Given the description of an element on the screen output the (x, y) to click on. 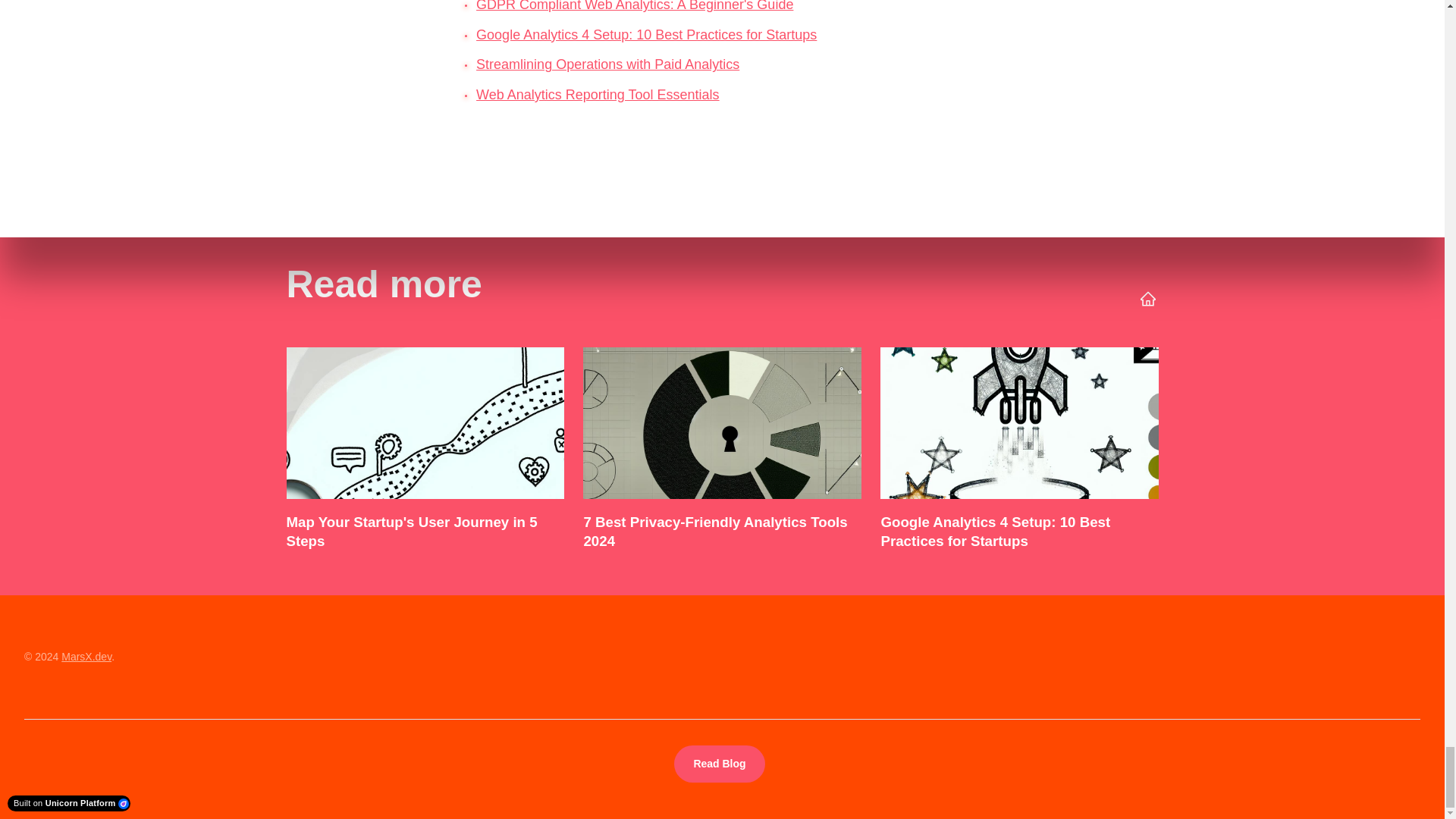
7 Best Privacy-Friendly Analytics Tools 2024 (721, 452)
Map Your Startup's User Journey in 5 Steps (425, 452)
Read Blog (719, 763)
Streamlining Operations with Paid Analytics (607, 64)
Google Analytics 4 Setup: 10 Best Practices for Startups (1019, 452)
Google Analytics 4 Setup: 10 Best Practices for Startups (646, 34)
GDPR Compliant Web Analytics: A Beginner's Guide (634, 6)
MarsX.dev (86, 656)
Web Analytics Reporting Tool Essentials (597, 94)
